Given the description of an element on the screen output the (x, y) to click on. 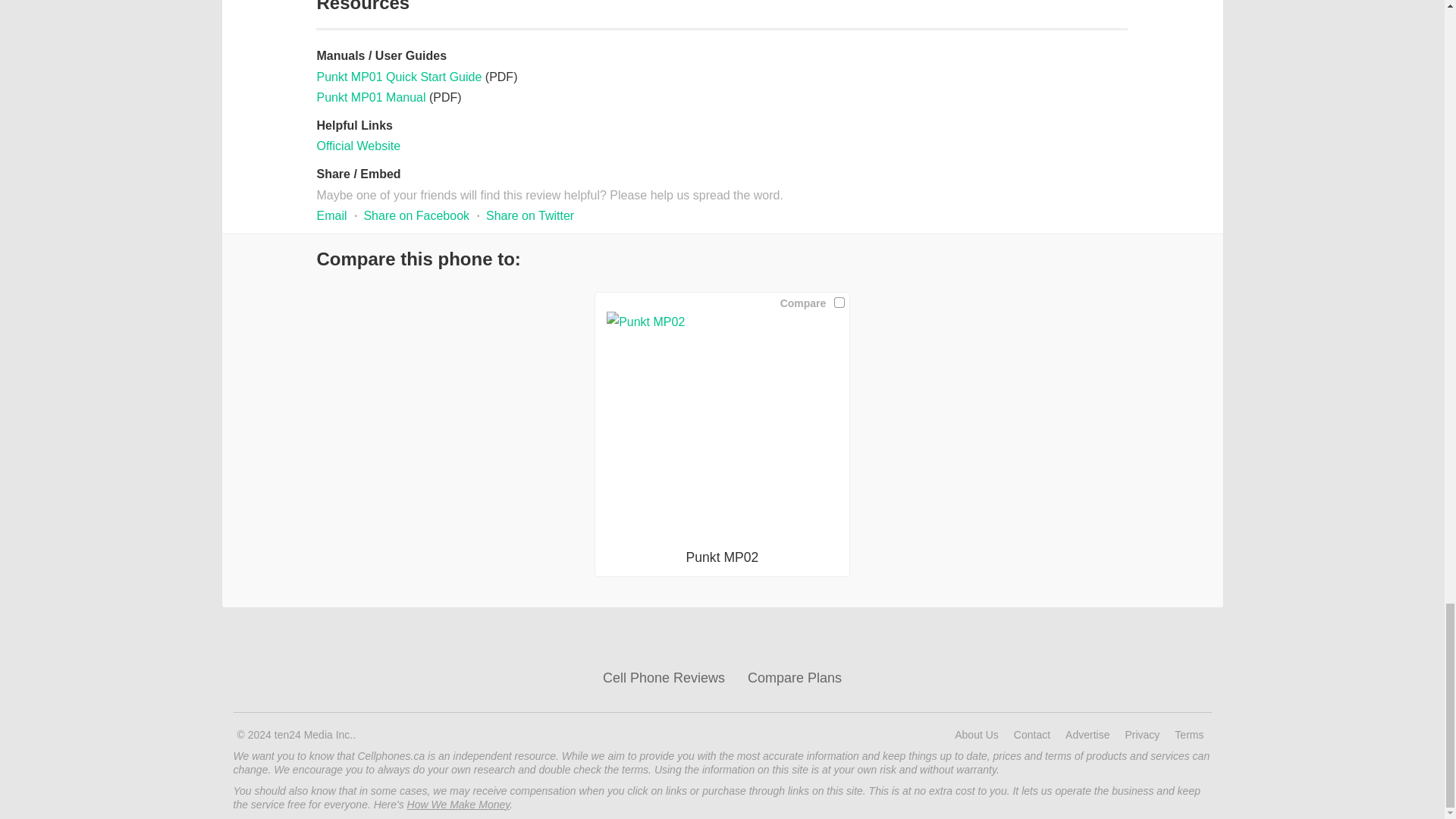
Official Website (357, 145)
Add to Compare (838, 302)
Punkt MP02 (722, 427)
